Given the description of an element on the screen output the (x, y) to click on. 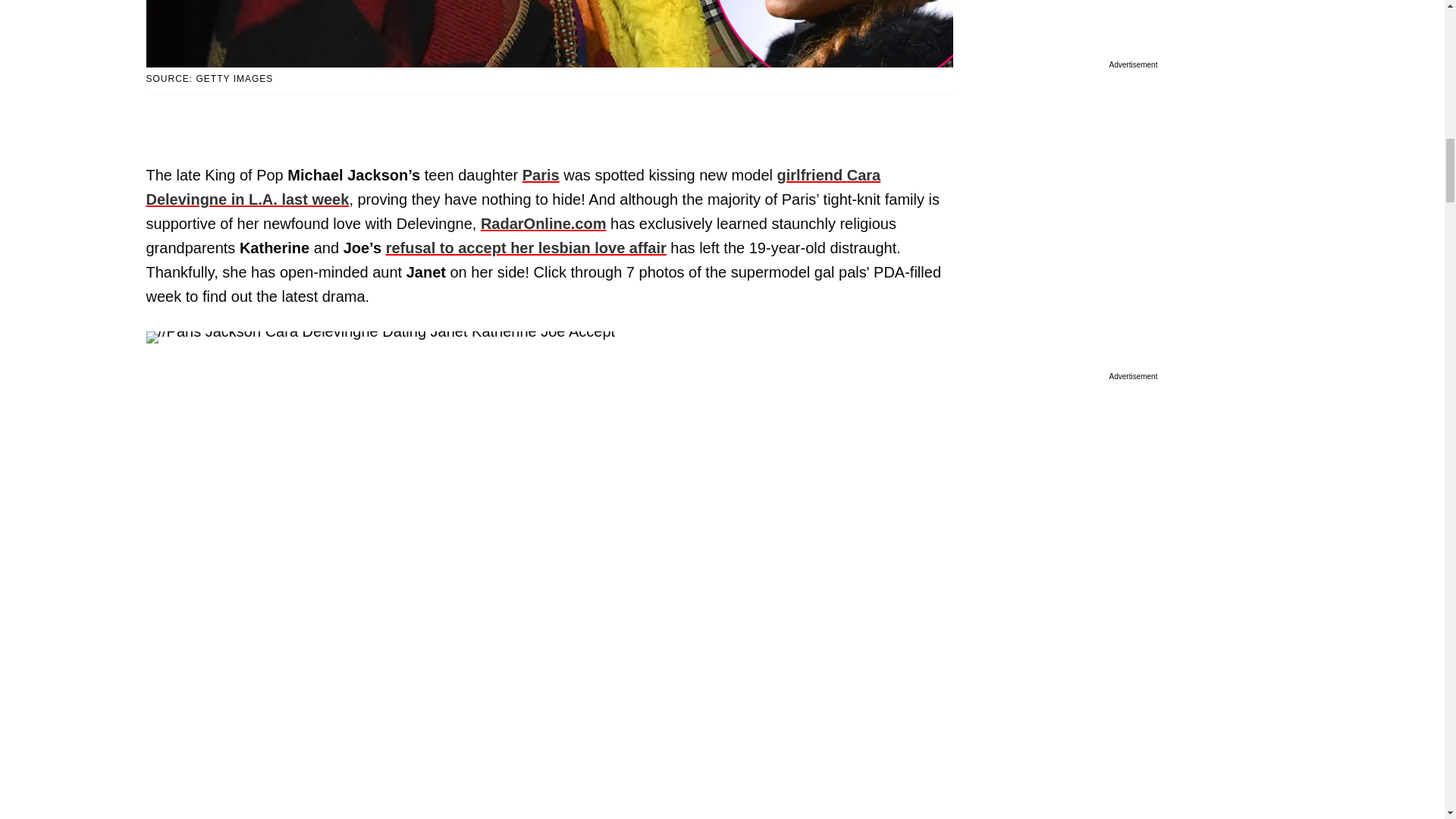
refusal to accept her lesbian love affair (525, 247)
girlfriend Cara Delevingne in L.A. last week (512, 187)
Paris (540, 175)
RadarOnline.com (543, 223)
